Given the description of an element on the screen output the (x, y) to click on. 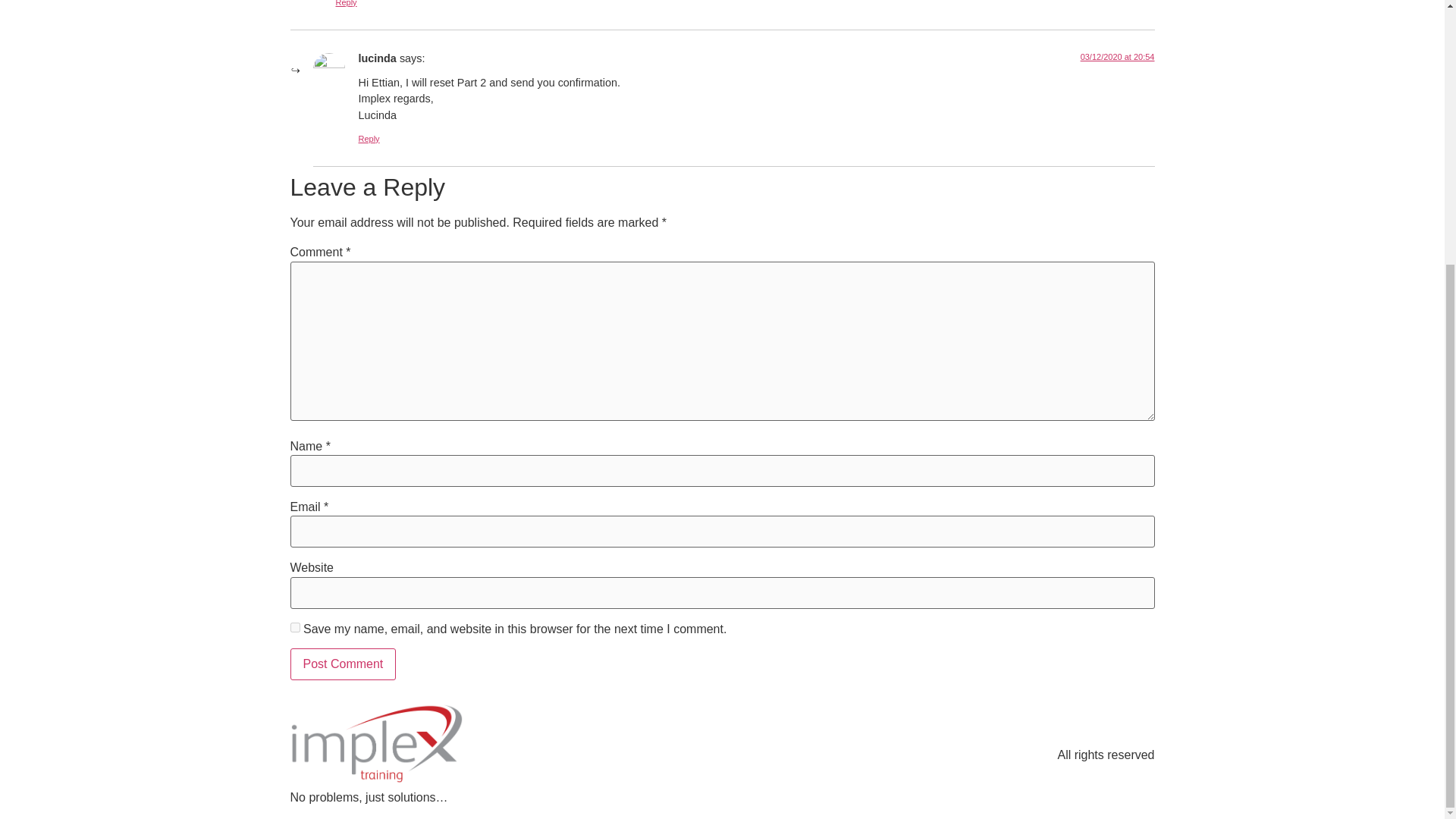
Post Comment (342, 664)
yes (294, 627)
Reply (368, 138)
Reply (345, 3)
Post Comment (342, 664)
